Given the description of an element on the screen output the (x, y) to click on. 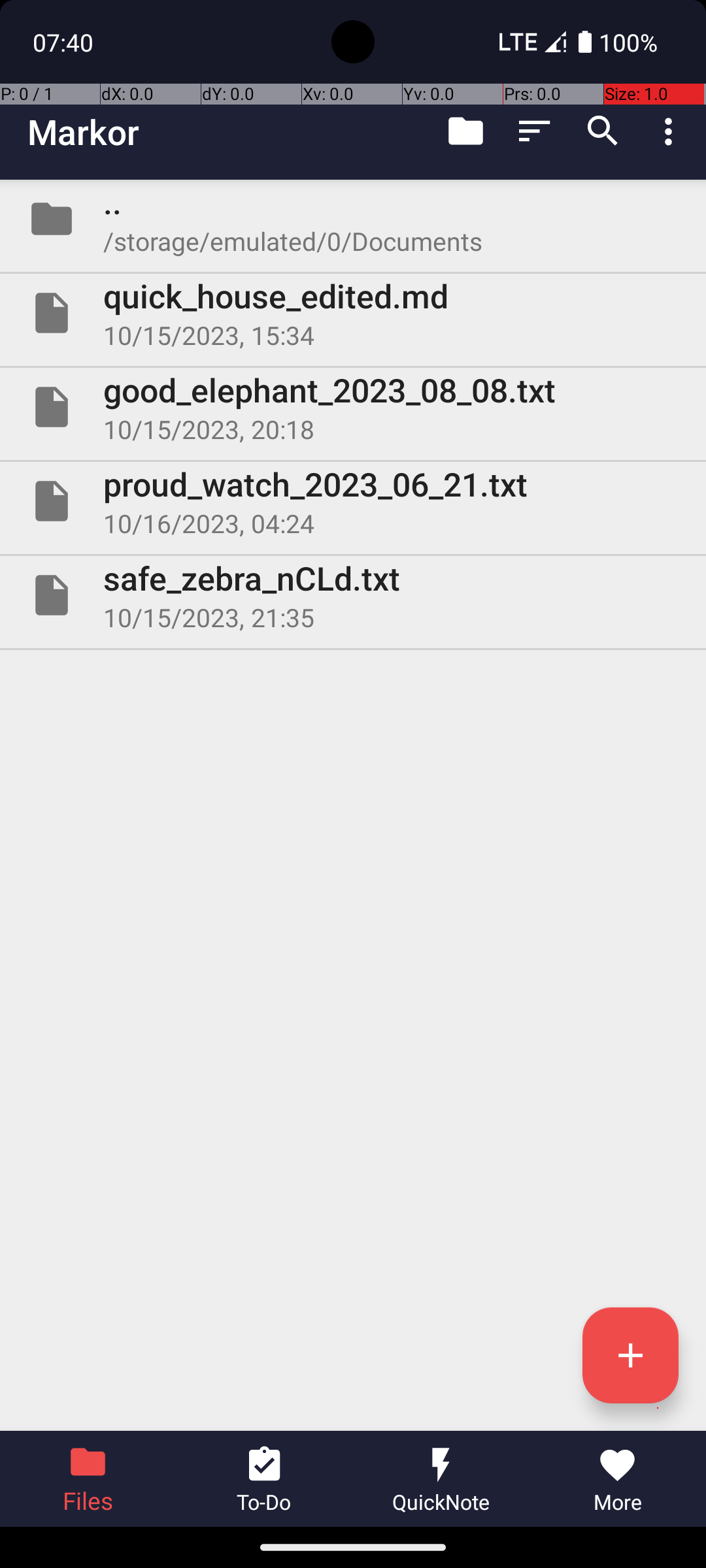
File quick_house_edited.md  Element type: android.widget.LinearLayout (353, 312)
File good_elephant_2023_08_08.txt  Element type: android.widget.LinearLayout (353, 406)
File proud_watch_2023_06_21.txt  Element type: android.widget.LinearLayout (353, 500)
File safe_zebra_nCLd.txt  Element type: android.widget.LinearLayout (353, 594)
07:40 Element type: android.widget.TextView (64, 41)
